Given the description of an element on the screen output the (x, y) to click on. 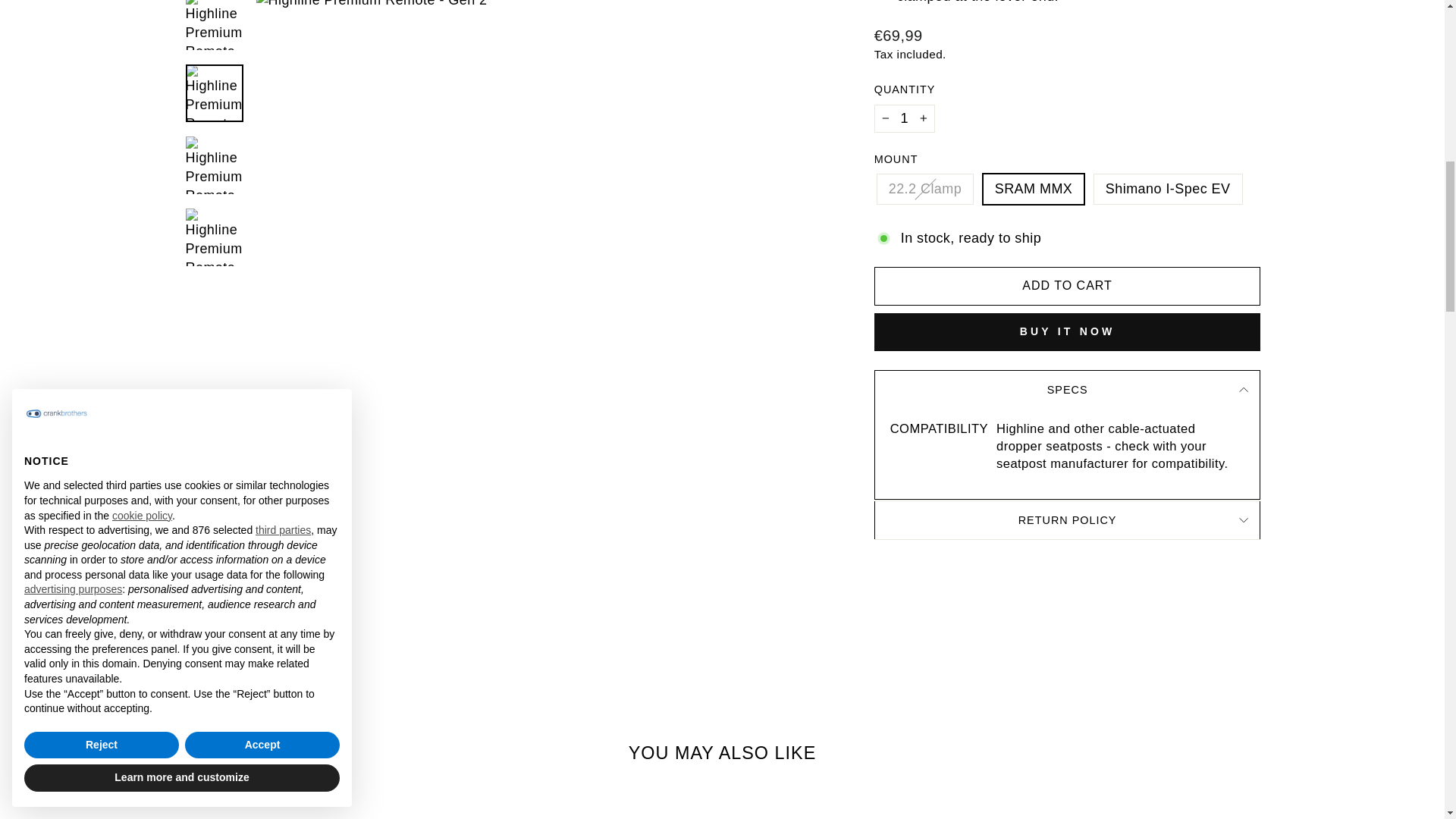
1 (904, 118)
